Given the description of an element on the screen output the (x, y) to click on. 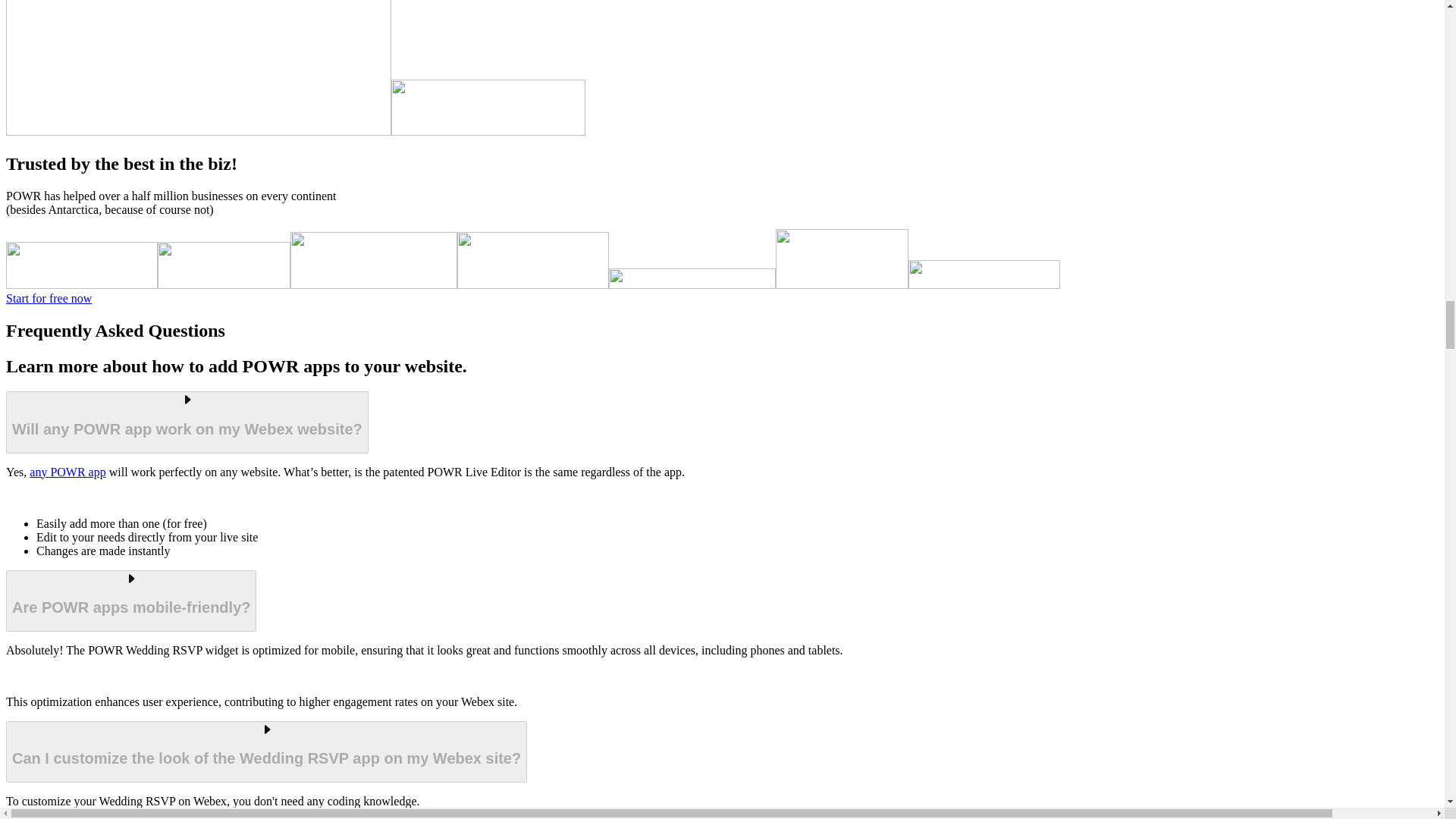
Start for free now (48, 297)
Are POWR apps mobile-friendly? (130, 600)
Will any POWR app work on my Webex website? (186, 421)
any POWR app (66, 472)
